Given the description of an element on the screen output the (x, y) to click on. 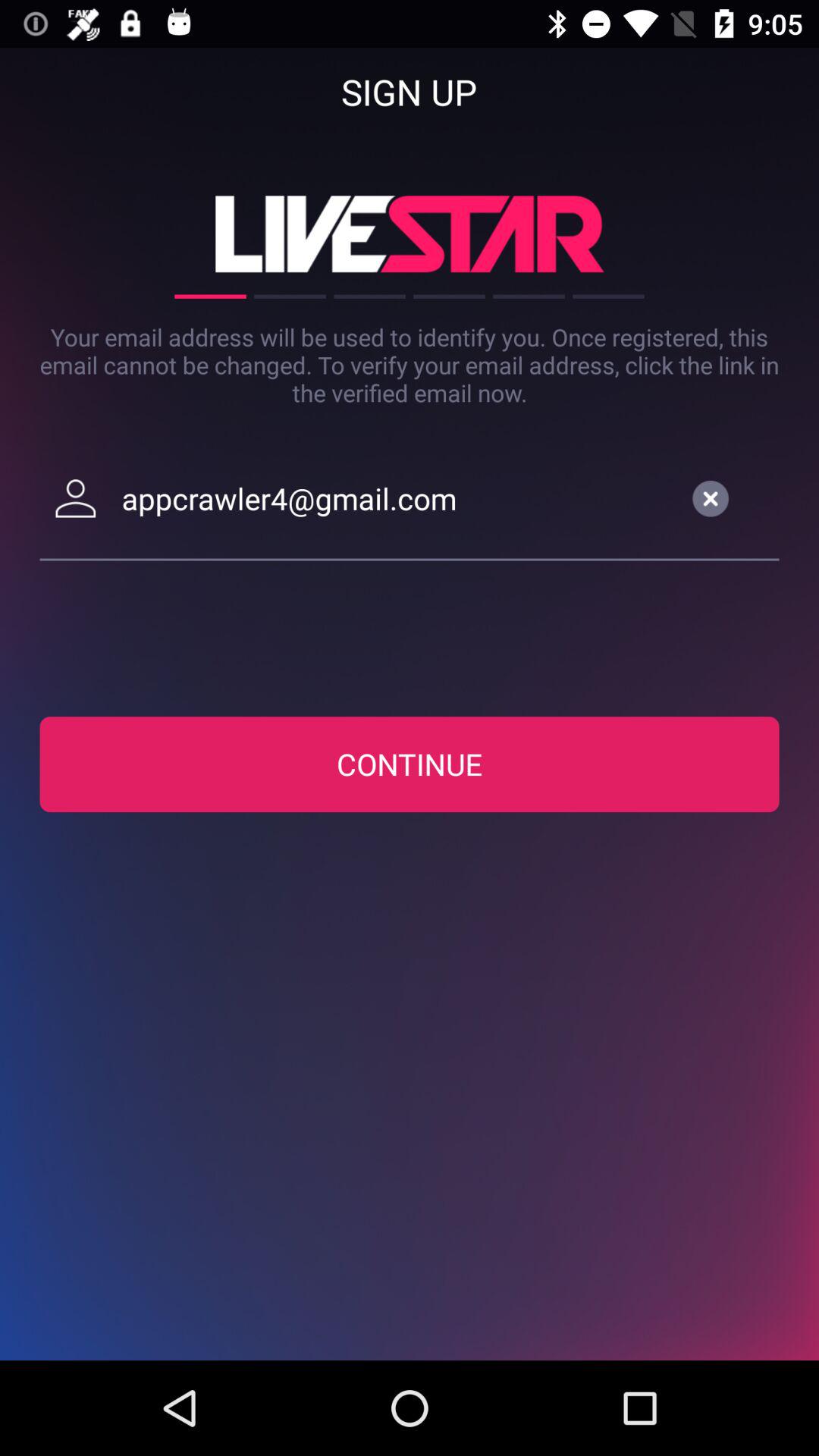
turn off the item below your email address icon (396, 498)
